Given the description of an element on the screen output the (x, y) to click on. 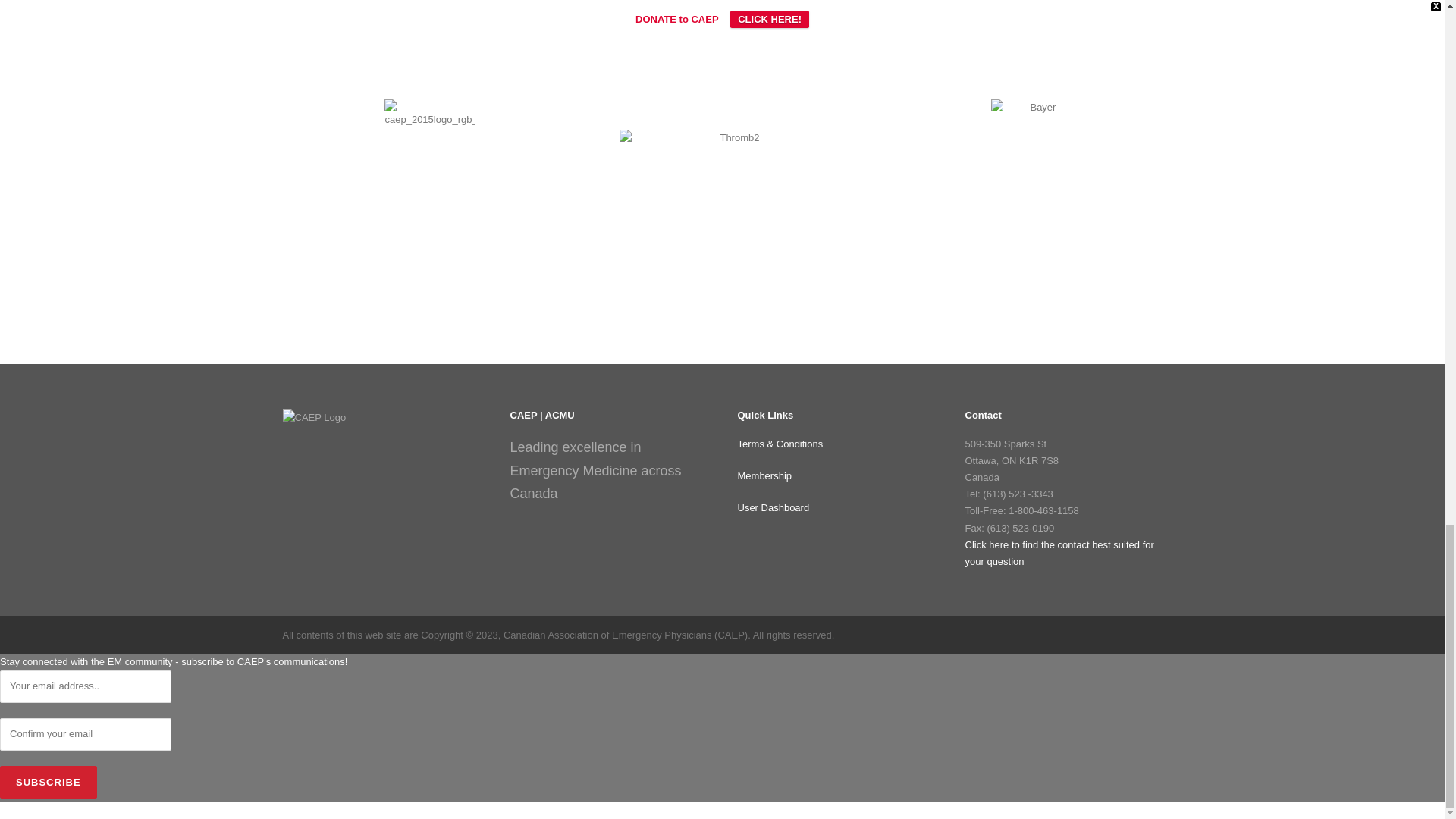
Subscribe (48, 781)
